Given the description of an element on the screen output the (x, y) to click on. 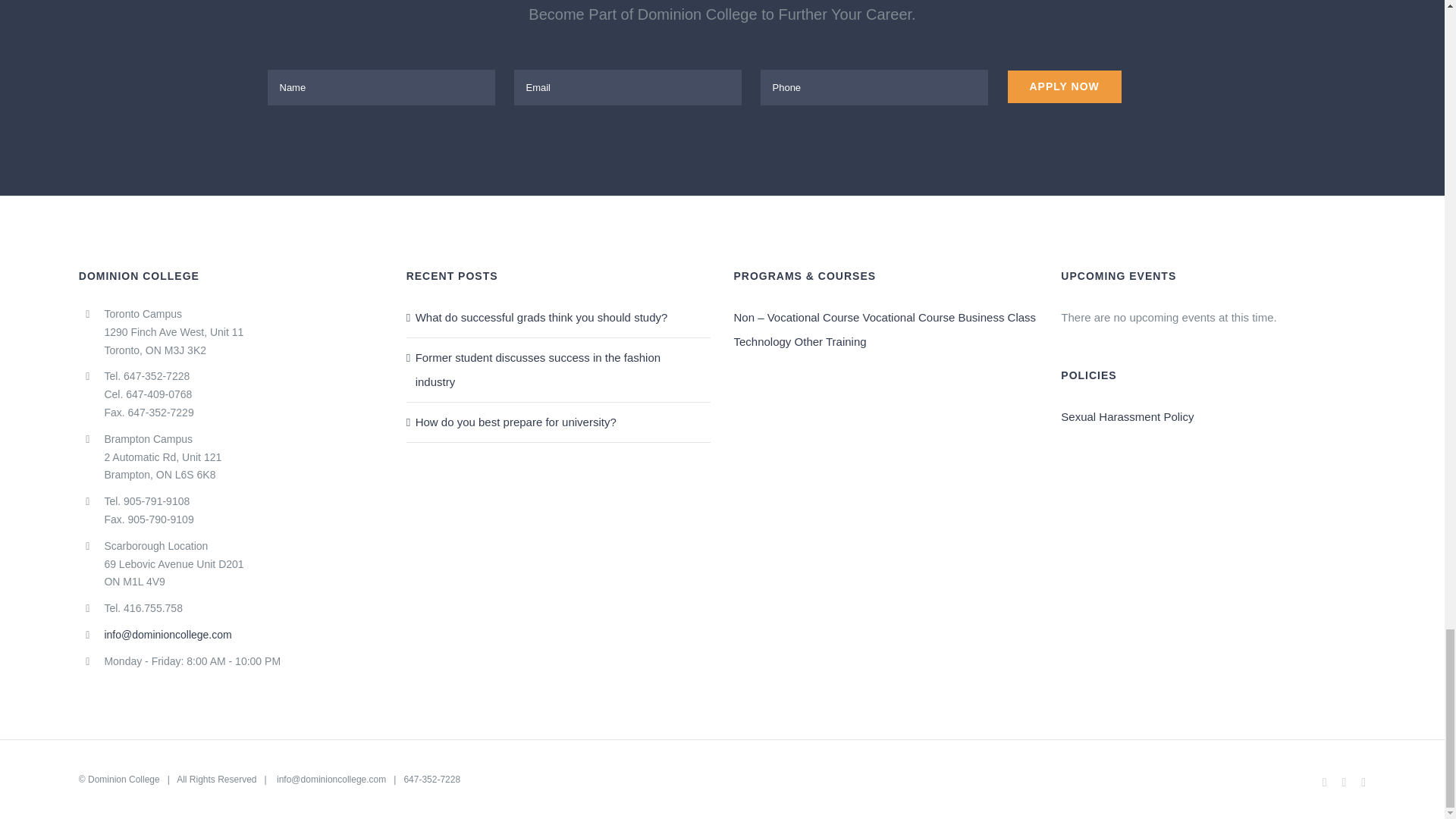
Technology (761, 341)
Vocational Course (909, 317)
Other Training (830, 341)
Sexual Harassment Policy (1127, 416)
Apply Now (1064, 86)
Business Classe (997, 317)
